Given the description of an element on the screen output the (x, y) to click on. 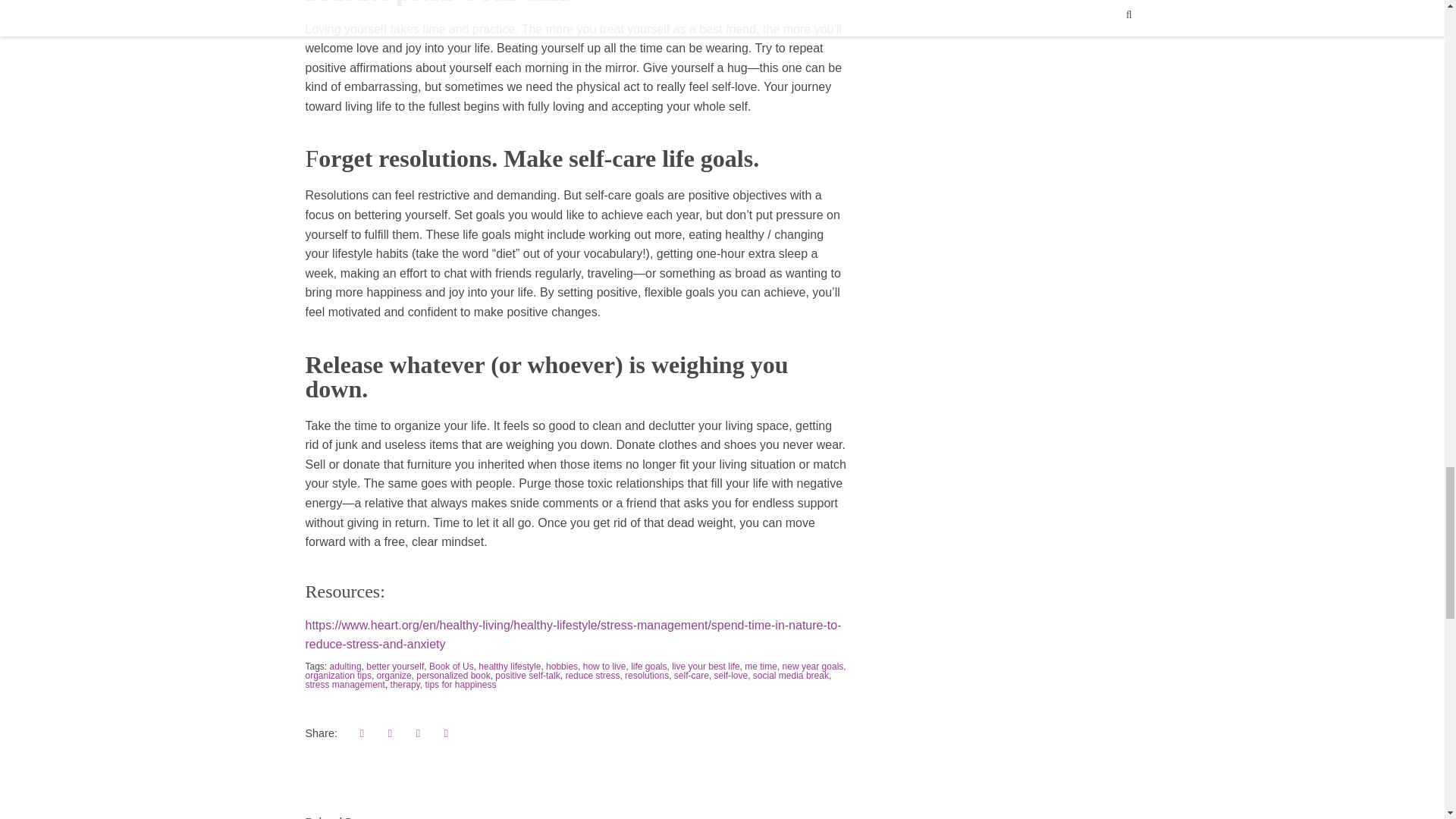
self-love (730, 675)
life goals (648, 665)
positive self-talk (527, 675)
how to live (604, 665)
reduce stress (592, 675)
better yourself (394, 665)
social media break (790, 675)
adulting (345, 665)
self-care (691, 675)
me time (760, 665)
